Given the description of an element on the screen output the (x, y) to click on. 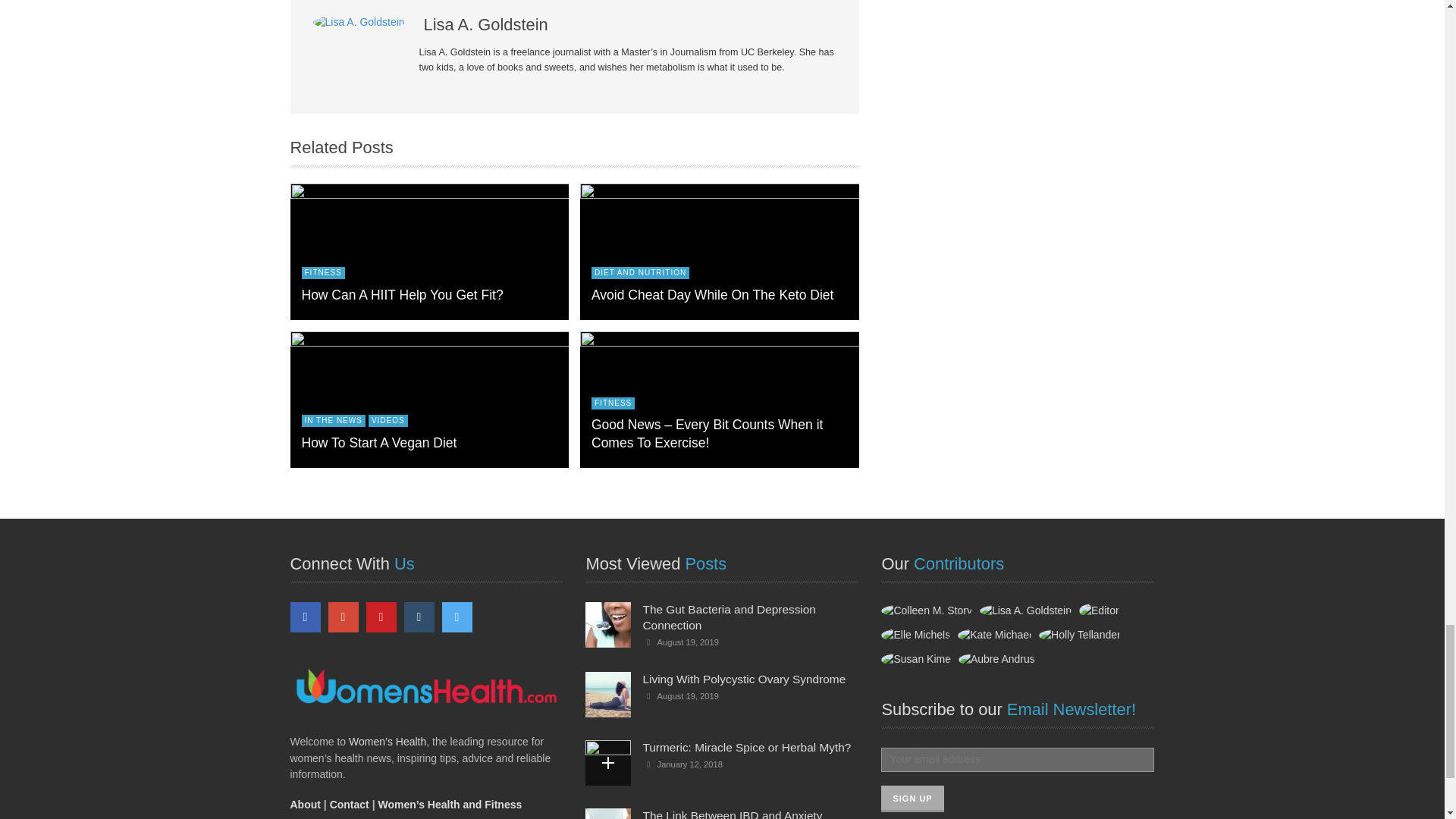
View all posts in Fitness (323, 272)
View all posts in Videos (387, 420)
View all posts in Diet and Nutrition (639, 272)
View all posts in In the News (333, 420)
View all posts in Fitness (612, 403)
View all posts by Lisa A. Goldstein (360, 21)
Sign up (911, 798)
